Given the description of an element on the screen output the (x, y) to click on. 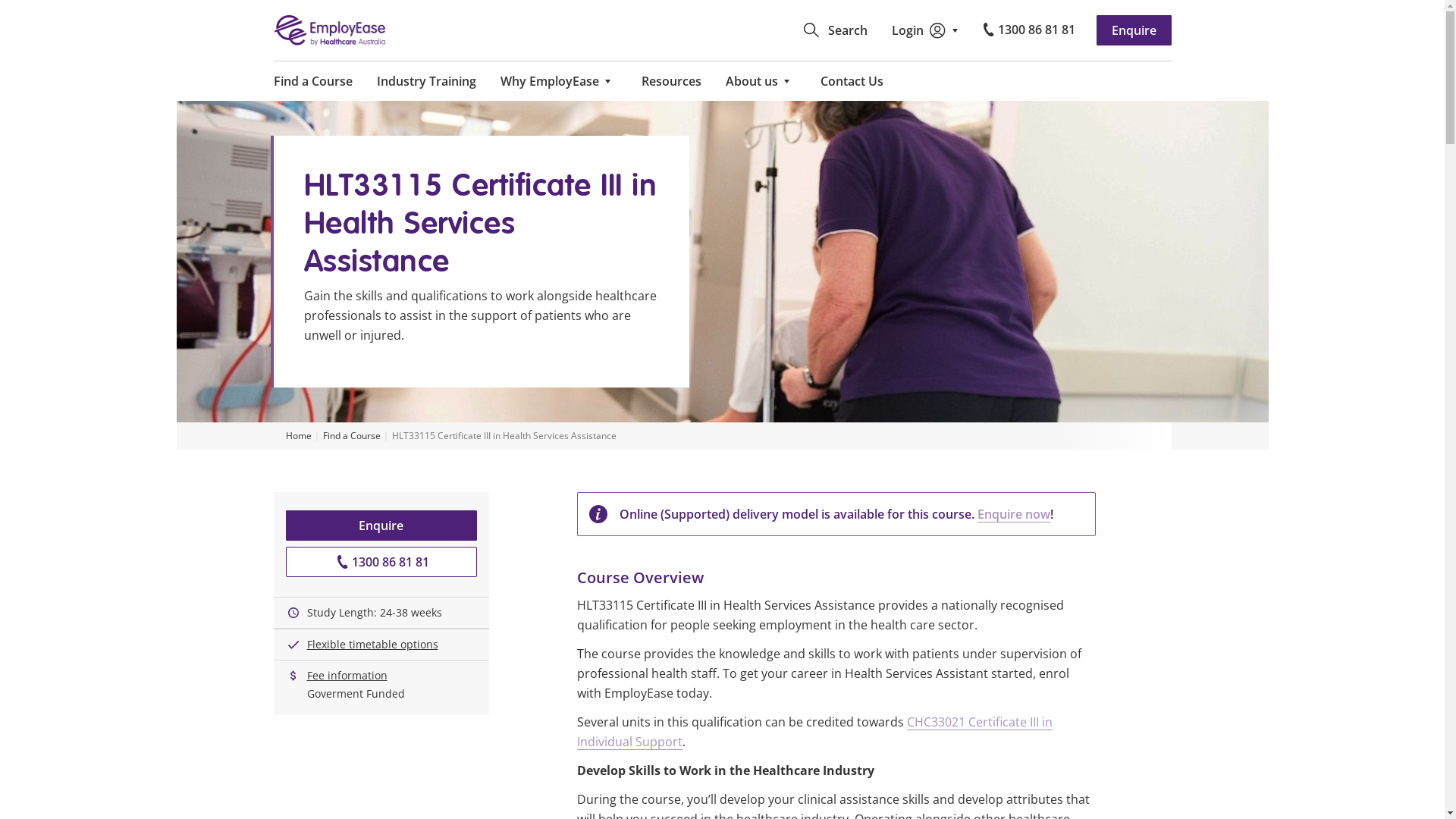
Find a Course Element type: text (312, 80)
1300 86 81 81 Element type: text (1027, 29)
Why EmployEase Element type: text (558, 80)
Enquire now Element type: text (1012, 513)
Industry Training Element type: text (425, 80)
Flexible timetable options Element type: text (371, 644)
About us Element type: text (759, 80)
Search Element type: text (834, 30)
Find a Course Element type: text (350, 435)
Resources Element type: text (671, 80)
Enquire Element type: text (380, 525)
Home Element type: text (300, 435)
CHC33021 Certificate III in Individual Support Element type: text (813, 731)
Enquire Element type: text (1133, 30)
1300 86 81 81 Element type: text (380, 561)
Fee information Element type: text (346, 675)
Contact Us Element type: text (851, 80)
